Given the description of an element on the screen output the (x, y) to click on. 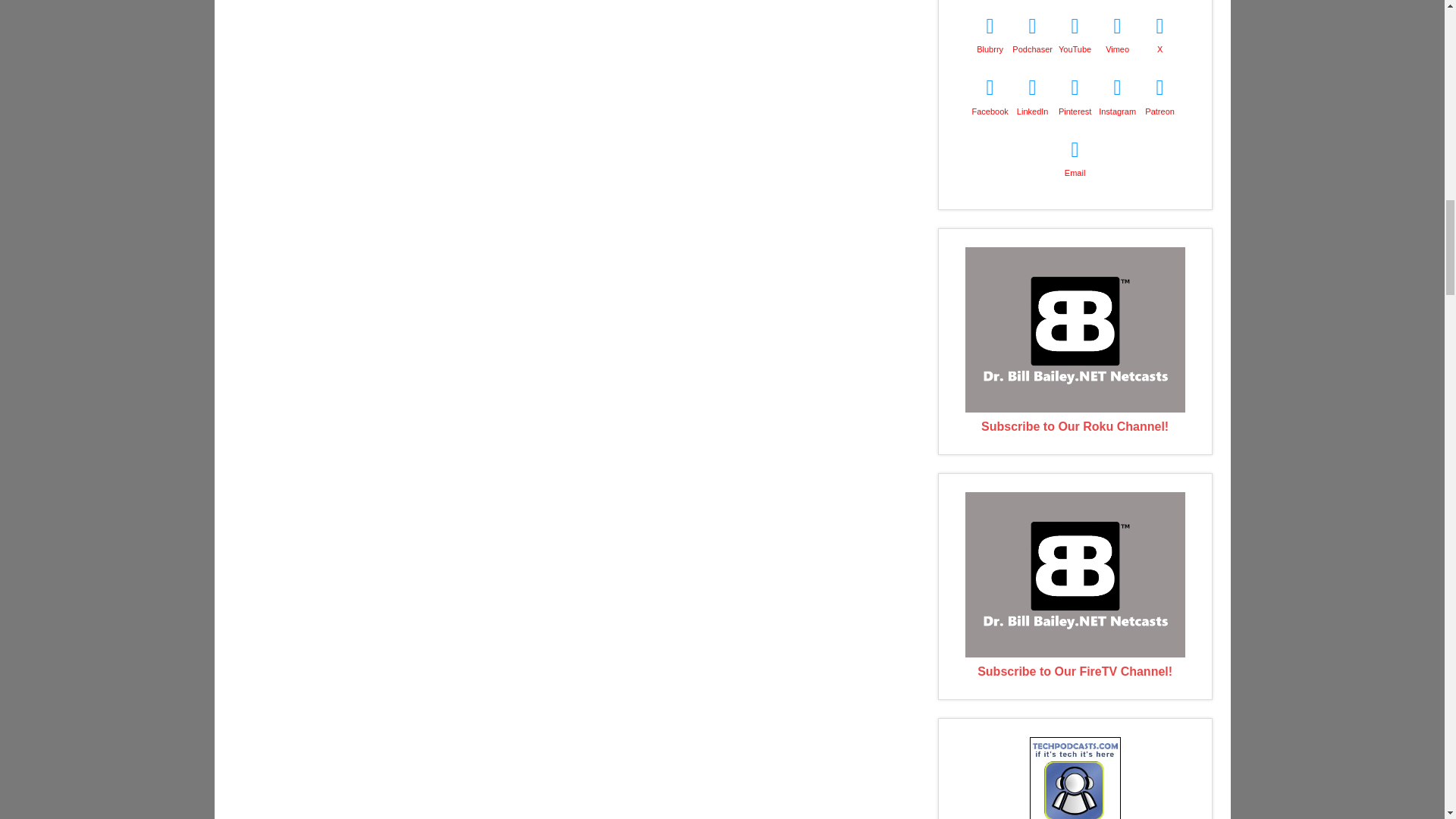
Tech Podcast Network (1075, 818)
Podcast RSS (1075, 1)
Apple Podcasts (990, 1)
RSS (1032, 1)
iHeartRadio (1159, 1)
TuneIn (1117, 1)
